Given the description of an element on the screen output the (x, y) to click on. 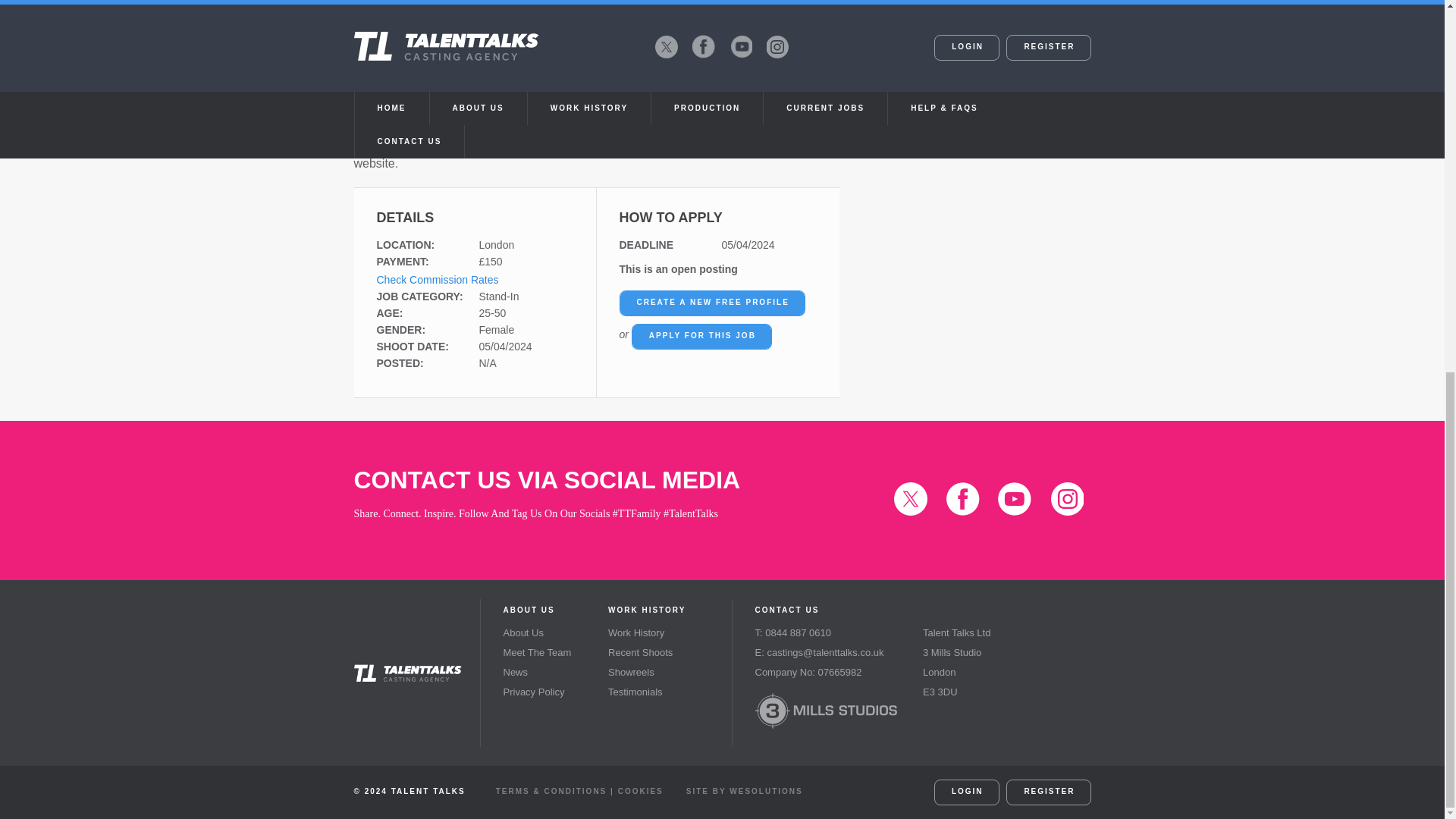
Follow us on instagram (1066, 498)
Follow us on Facebook (962, 498)
Click here (380, 60)
APPLY FOR THIS JOB (701, 336)
CREATE A NEW FREE PROFILE (711, 303)
Check Commission Rates (436, 279)
Subscribe to our YouTube channel (1013, 498)
